Given the description of an element on the screen output the (x, y) to click on. 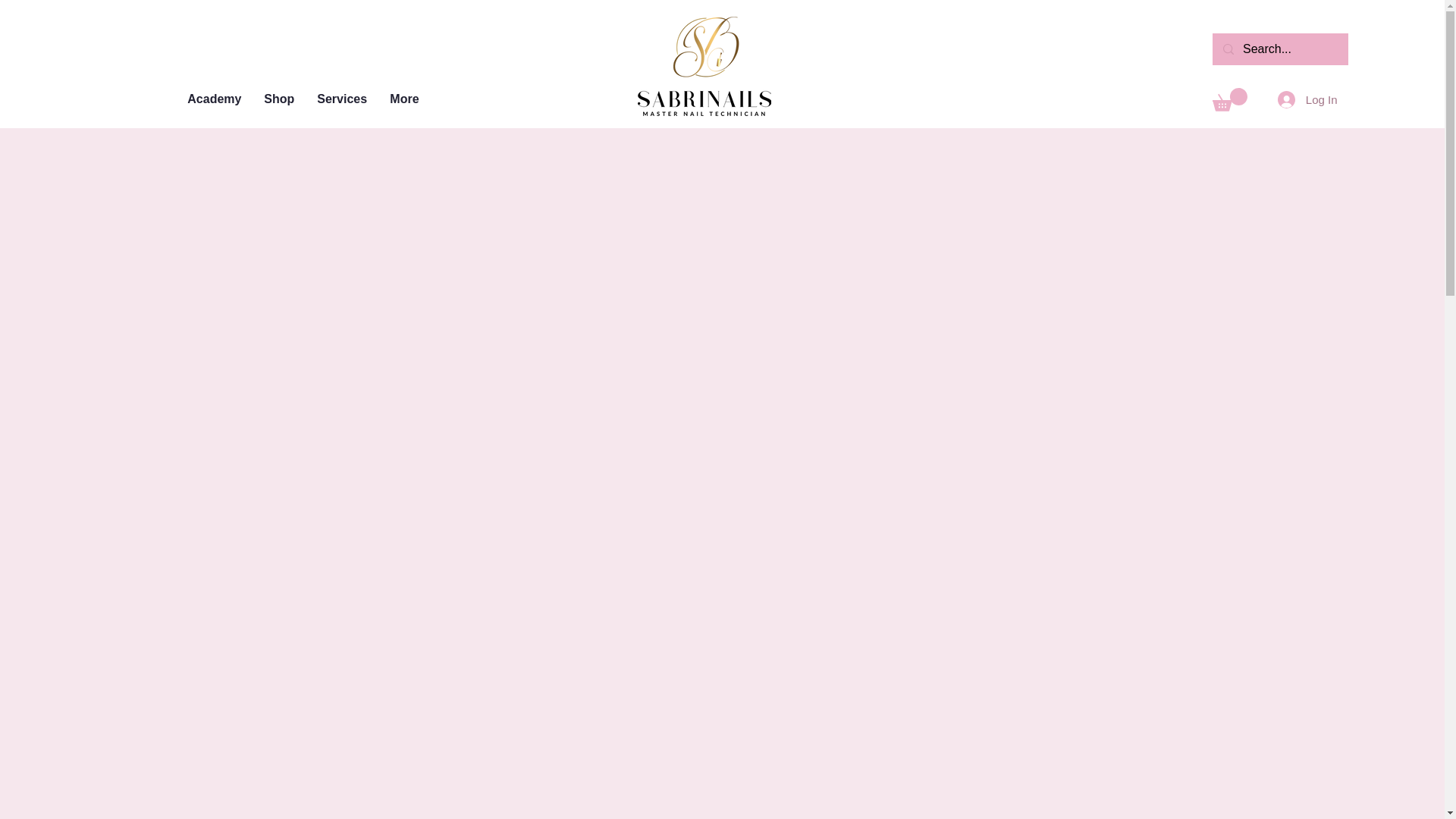
Services (341, 98)
Log In (1307, 99)
Shop (278, 98)
